Given the description of an element on the screen output the (x, y) to click on. 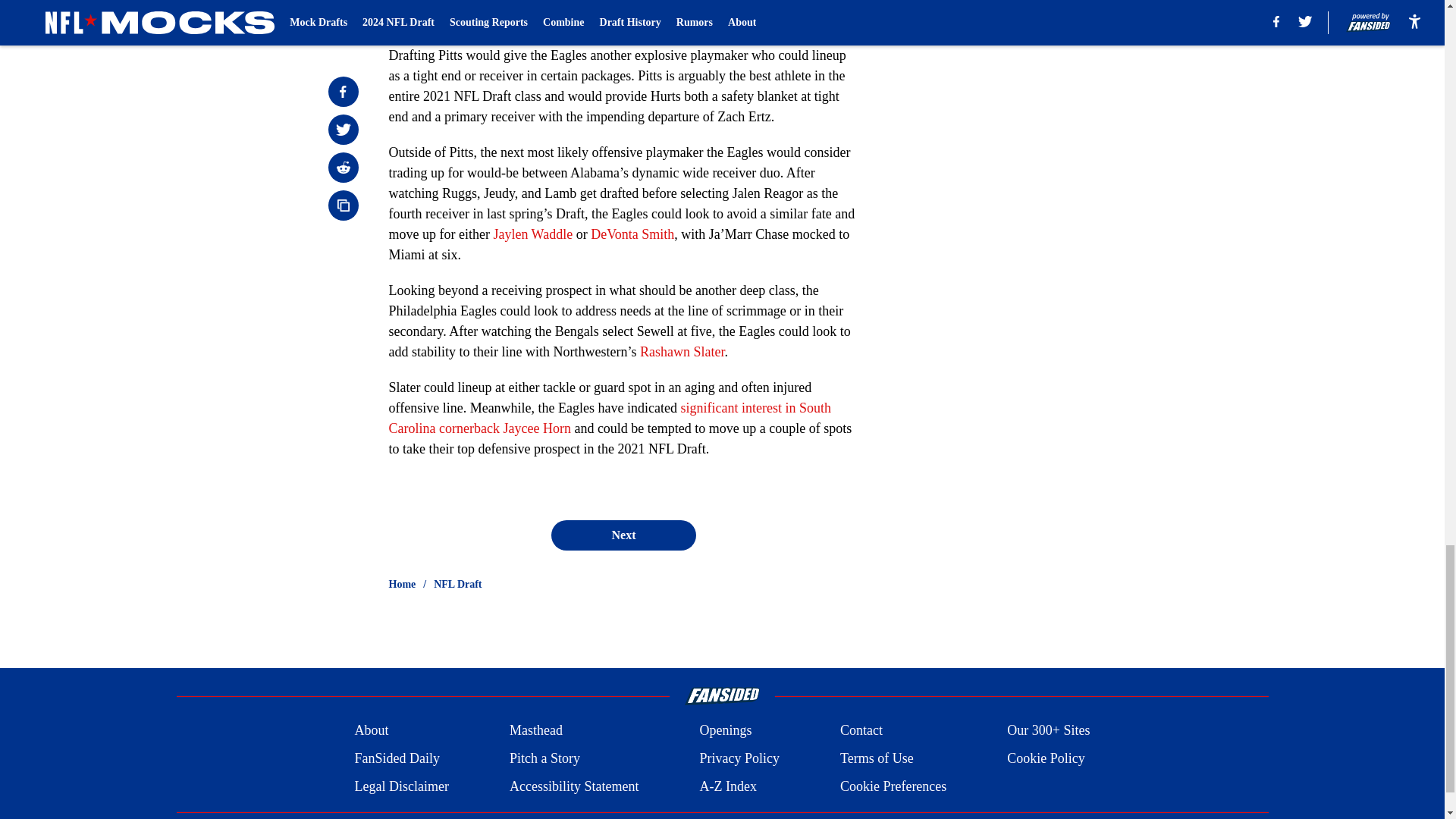
Cookie Policy (1045, 758)
Privacy Policy (738, 758)
Pitch a Story (544, 758)
Jaylen Waddle (532, 233)
NFL Draft (457, 584)
Contact (861, 730)
About (370, 730)
Terms of Use (877, 758)
Home (401, 584)
Next (622, 535)
DeVonta Smith (632, 233)
FanSided Daily (396, 758)
Rashawn Slater (681, 351)
Openings (724, 730)
